Given the description of an element on the screen output the (x, y) to click on. 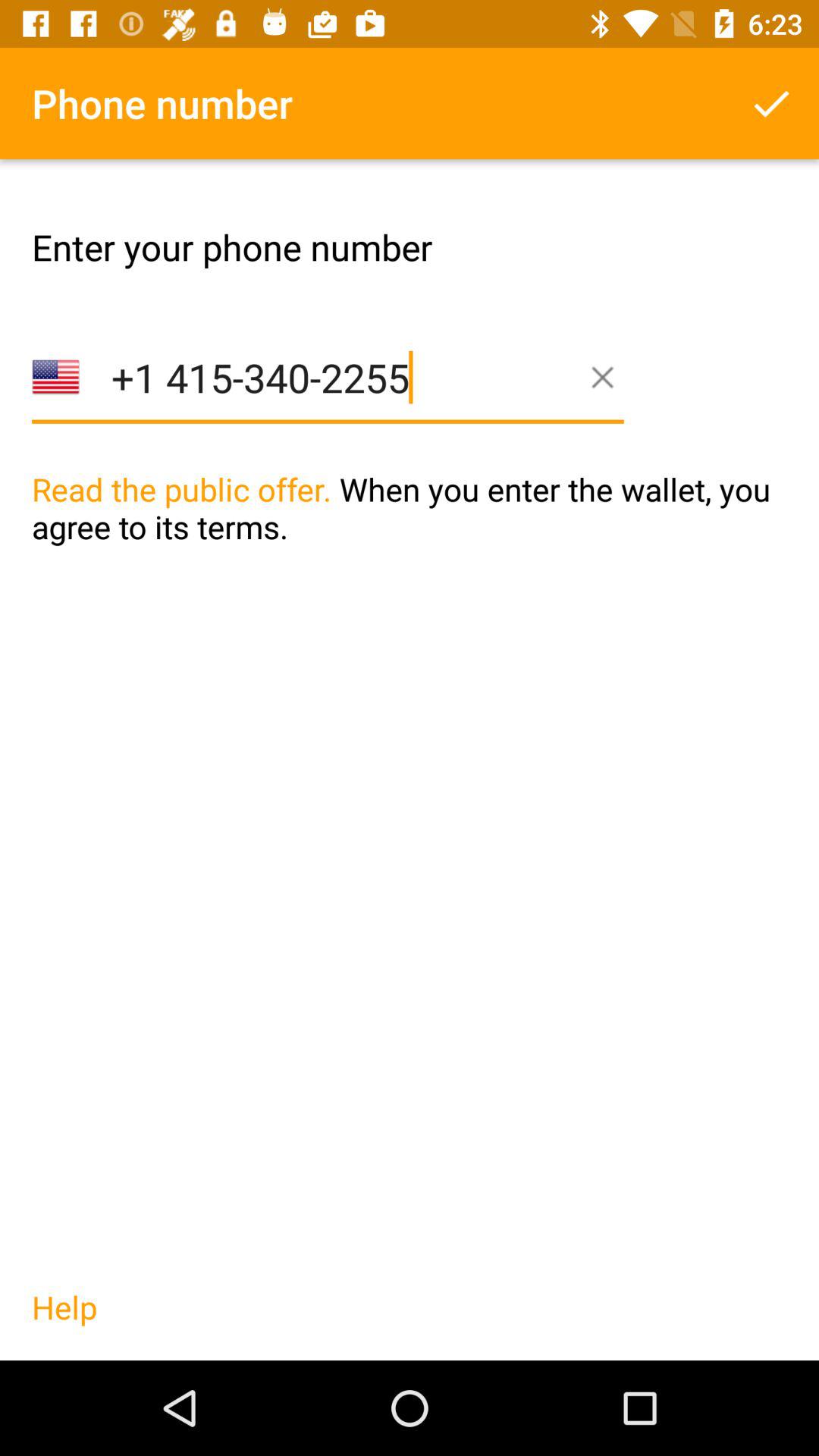
swipe until the 1 415 340 icon (327, 400)
